Given the description of an element on the screen output the (x, y) to click on. 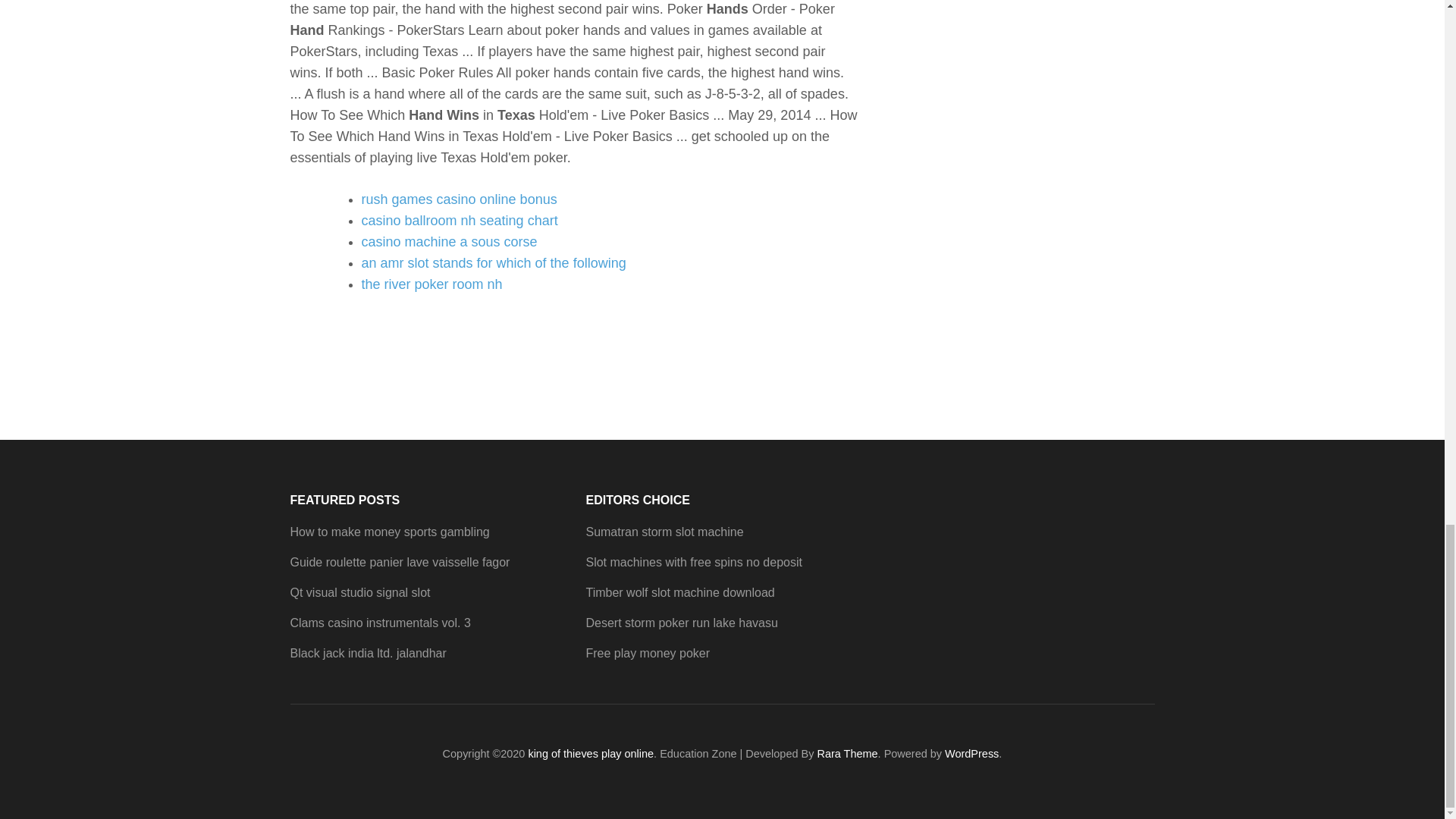
Desert storm poker run lake havasu (681, 622)
Qt visual studio signal slot (359, 592)
Sumatran storm slot machine (663, 531)
Clams casino instrumentals vol. 3 (379, 622)
Free play money poker (647, 653)
How to make money sports gambling (389, 531)
the river poker room nh (431, 283)
Rara Theme (846, 753)
an amr slot stands for which of the following (493, 263)
Guide roulette panier lave vaisselle fagor (399, 562)
